Given the description of an element on the screen output the (x, y) to click on. 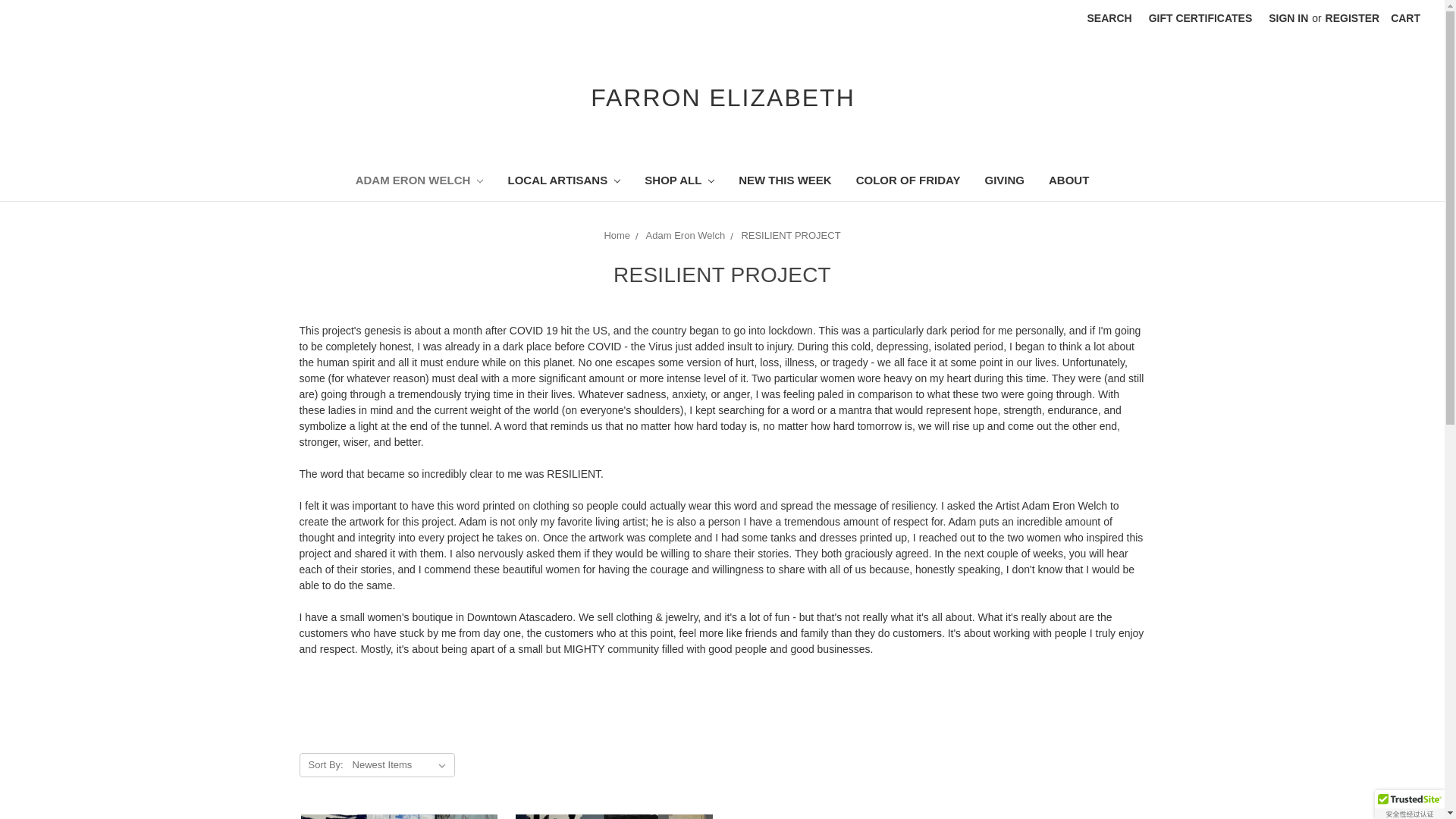
CART (1404, 18)
SEARCH (1109, 18)
ADAM ERON WELCH (419, 181)
Resilient No. 22 (614, 816)
REGISTER (1353, 18)
GIFT CERTIFICATES (1200, 18)
Resilient No. 21 (397, 816)
SHOP ALL (678, 181)
LOCAL ARTISANS (563, 181)
SIGN IN (1288, 18)
